Given the description of an element on the screen output the (x, y) to click on. 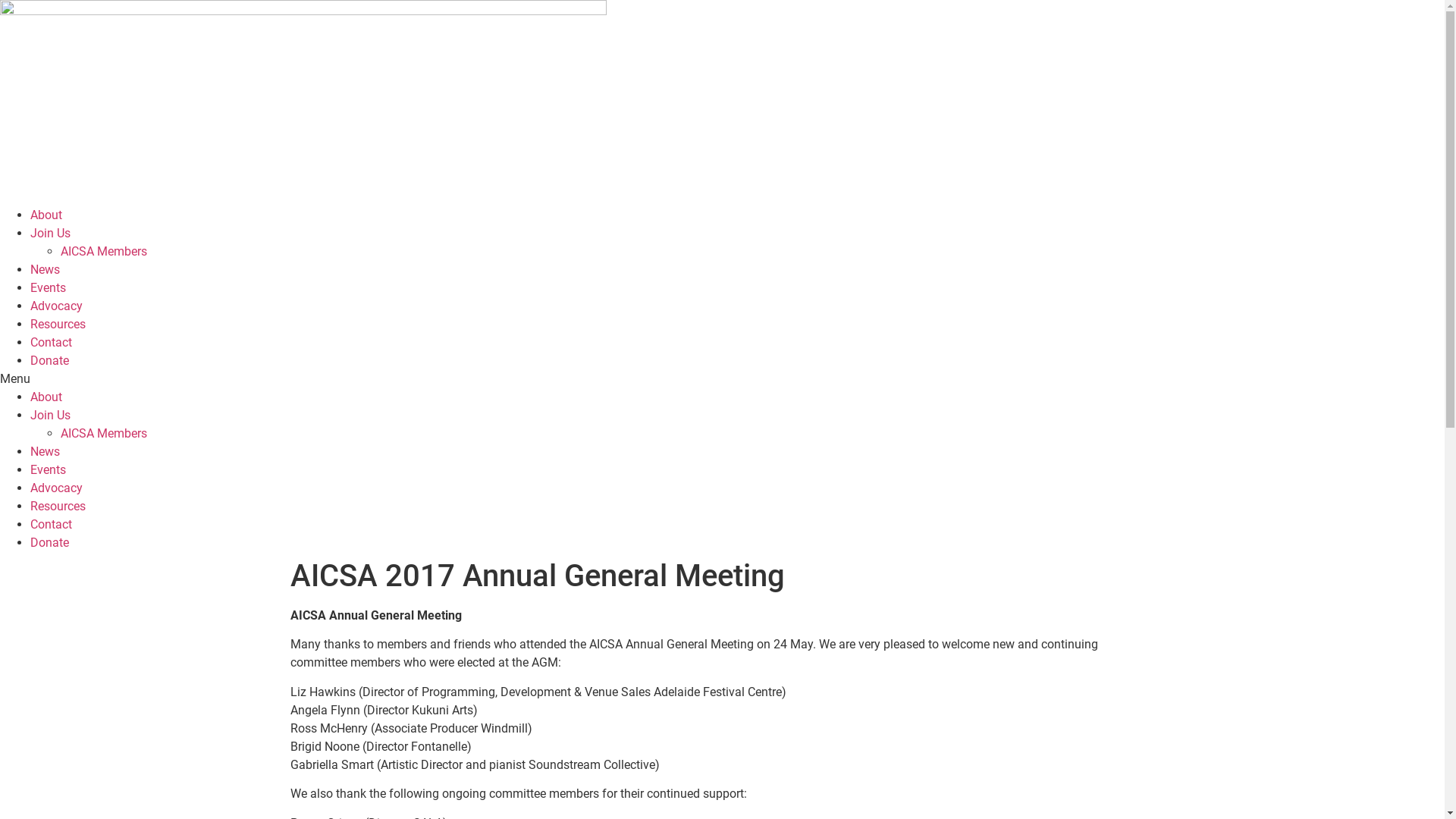
Join Us Element type: text (50, 232)
AICSA Members Element type: text (103, 433)
AICSA Members Element type: text (103, 251)
Events Element type: text (47, 469)
News Element type: text (44, 451)
Resources Element type: text (57, 505)
Contact Element type: text (51, 524)
Donate Element type: text (49, 360)
Contact Element type: text (51, 342)
Advocacy Element type: text (56, 487)
News Element type: text (44, 269)
Events Element type: text (47, 287)
Resources Element type: text (57, 323)
About Element type: text (46, 214)
Donate Element type: text (49, 542)
Join Us Element type: text (50, 414)
About Element type: text (46, 396)
Advocacy Element type: text (56, 305)
